Given the description of an element on the screen output the (x, y) to click on. 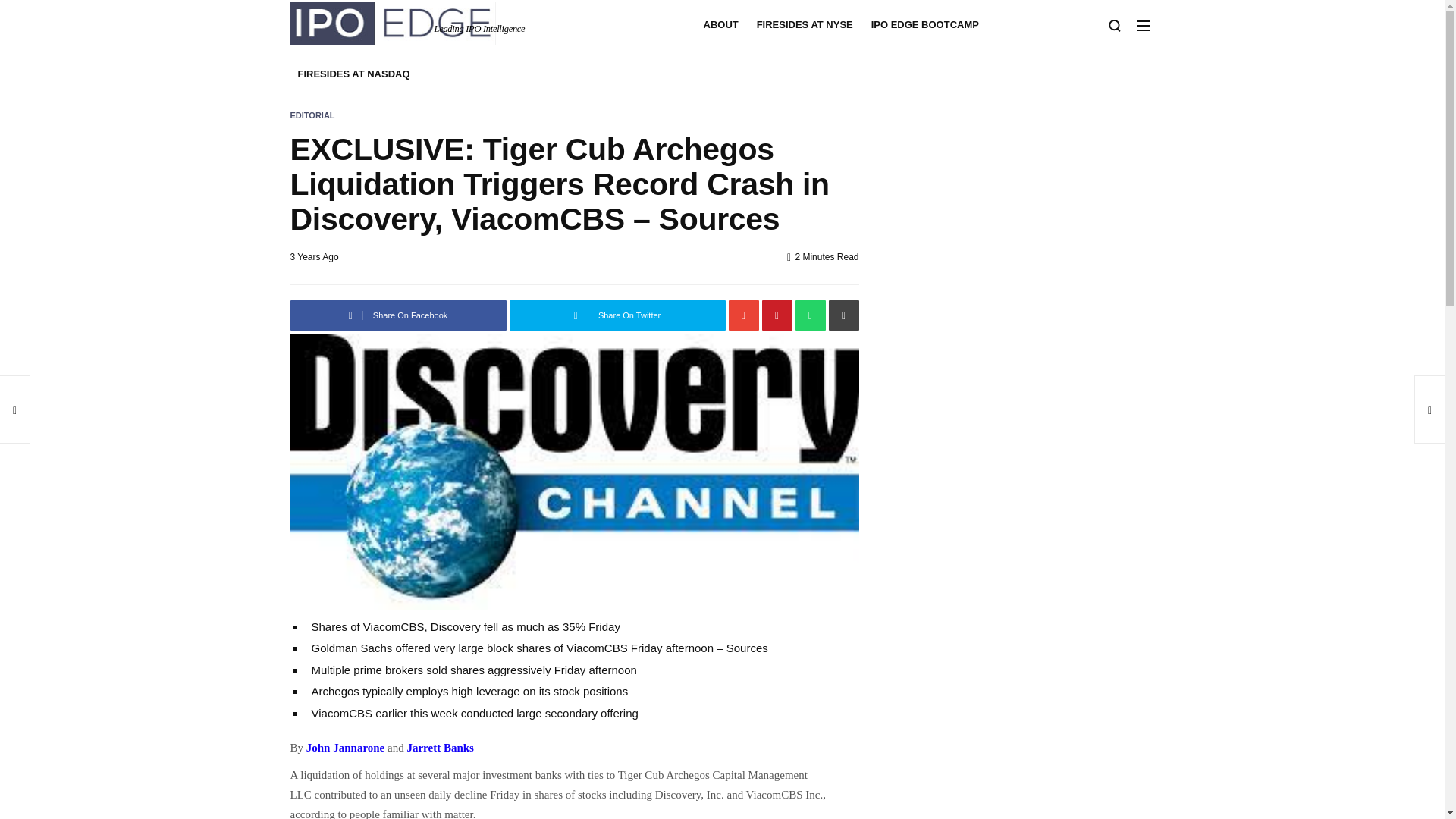
IPO EDGE BOOTCAMP (925, 24)
EDITORIAL (311, 114)
FIRESIDES AT NYSE (804, 24)
Jarrett Banks (439, 747)
Share On Twitter (617, 315)
Share On Facebook (397, 315)
John Jannarone (345, 747)
FIRESIDES AT NASDAQ (352, 73)
3 Years Ago (313, 256)
